Given the description of an element on the screen output the (x, y) to click on. 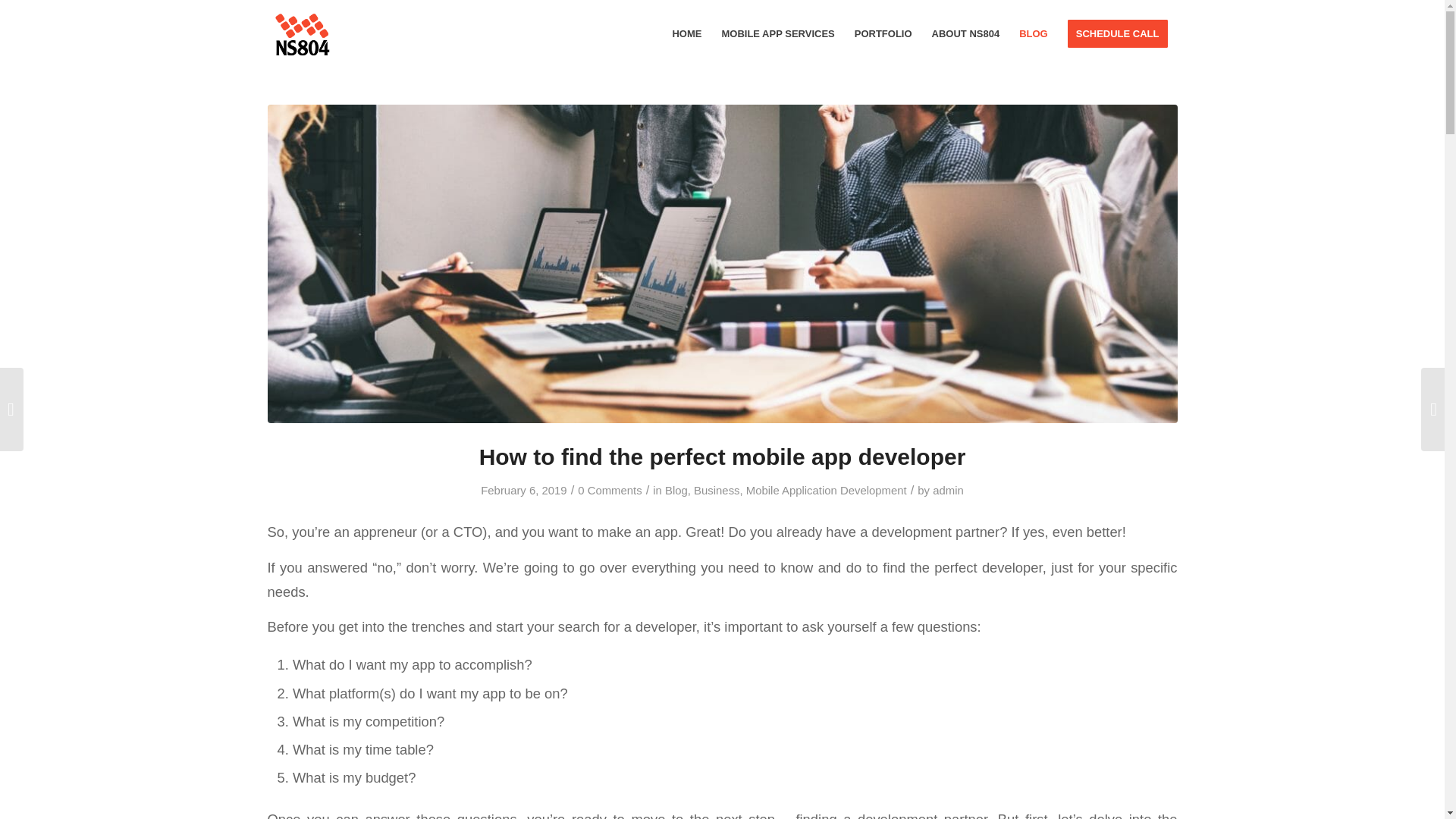
SCHEDULE CALL (1117, 33)
ABOUT NS804 (965, 33)
Posts by admin (948, 490)
Blog (676, 490)
MOBILE APP SERVICES (777, 33)
ns804logo-nav (300, 33)
admin (948, 490)
0 Comments (610, 490)
Business (716, 490)
